Given the description of an element on the screen output the (x, y) to click on. 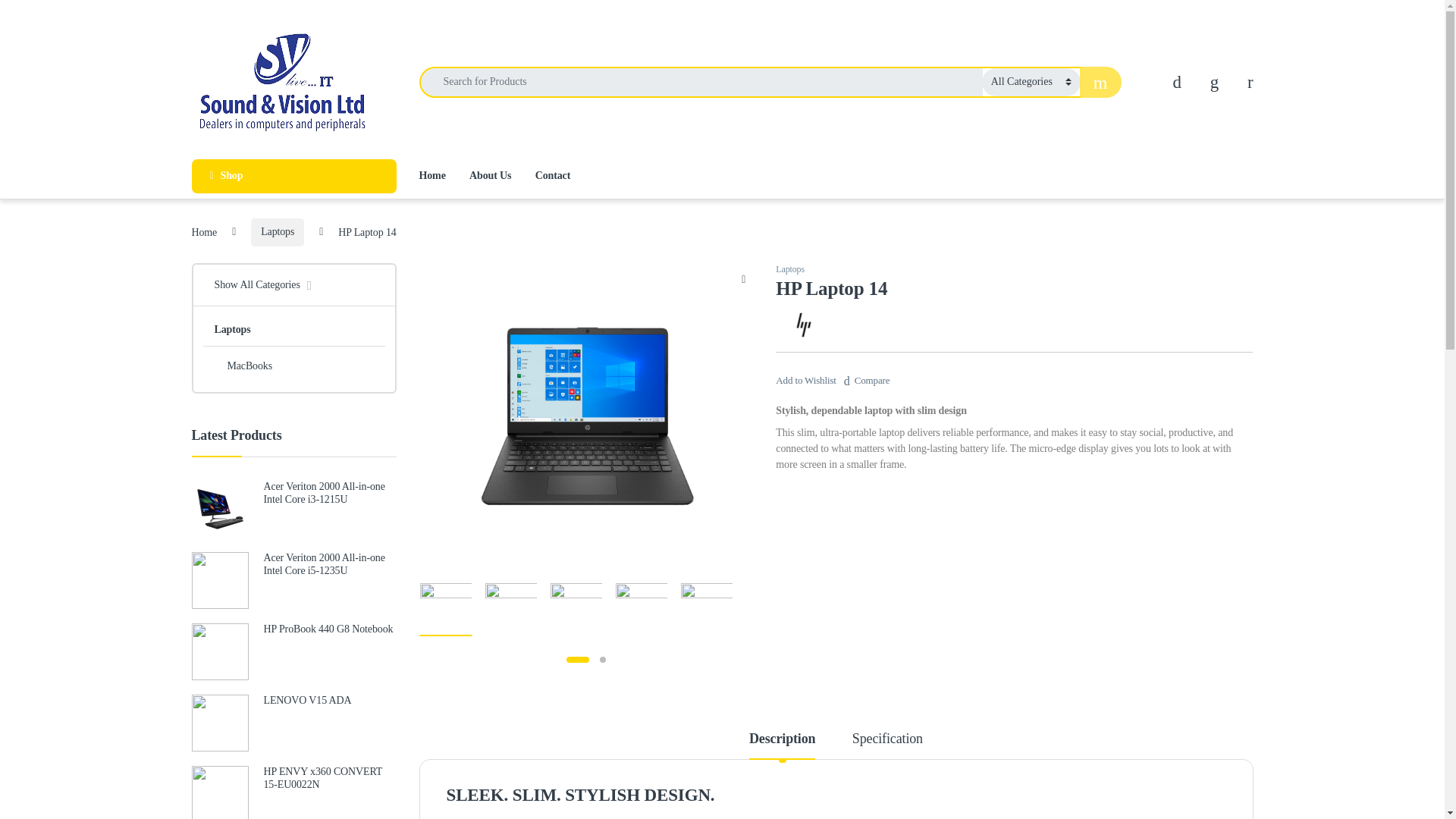
Shop (293, 175)
